Given the description of an element on the screen output the (x, y) to click on. 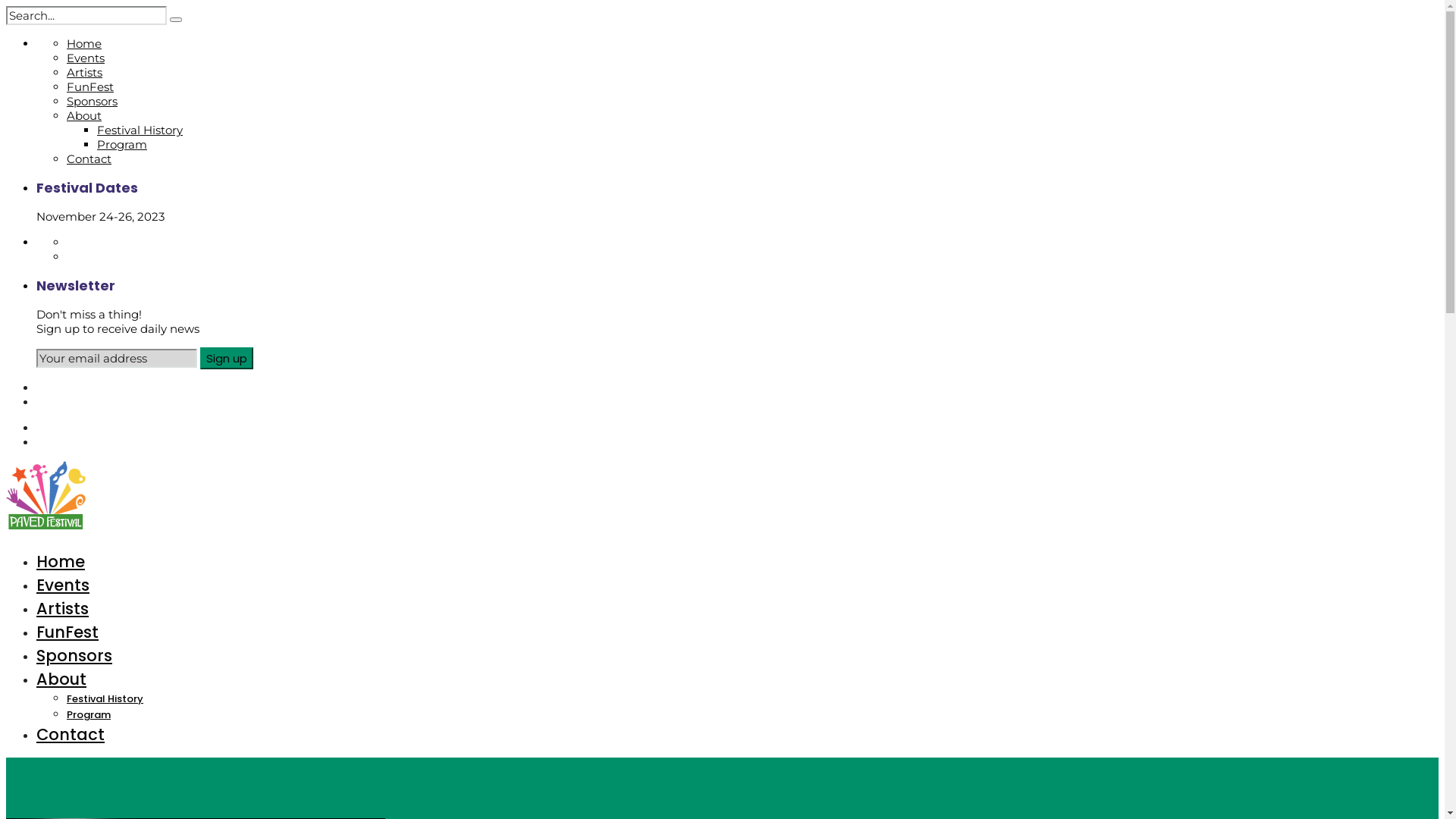
Home Element type: text (60, 561)
Home Element type: text (83, 43)
Sign up Element type: text (226, 358)
About Element type: text (83, 115)
FunFest Element type: text (67, 631)
Events Element type: text (62, 584)
Sponsors Element type: text (91, 101)
Contact Element type: text (70, 734)
Program Element type: text (122, 144)
Artists Element type: text (62, 608)
Festival History Element type: text (139, 129)
About Element type: text (61, 678)
Sponsors Element type: text (74, 655)
Program Element type: text (88, 714)
Events Element type: text (85, 57)
Contact Element type: text (88, 158)
Artists Element type: text (84, 72)
FunFest Element type: text (89, 86)
Festival History Element type: text (104, 698)
